Given the description of an element on the screen output the (x, y) to click on. 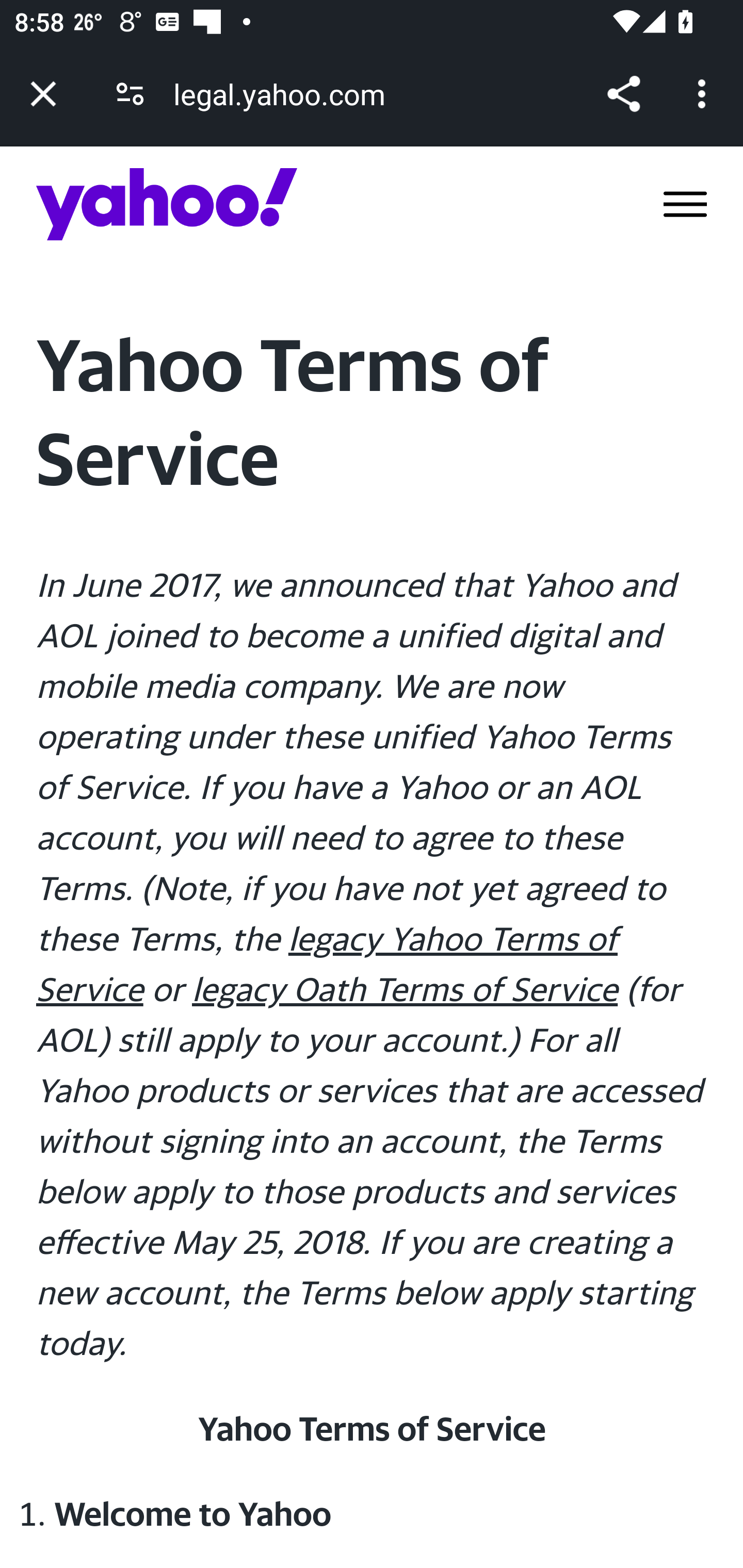
Close tab (43, 93)
Share (623, 93)
Customize and control Google Chrome (705, 93)
Connection is secure (129, 93)
legal.yahoo.com (286, 93)
Yahoo logo (166, 203)
legacy Yahoo Terms of Service (327, 963)
